Given the description of an element on the screen output the (x, y) to click on. 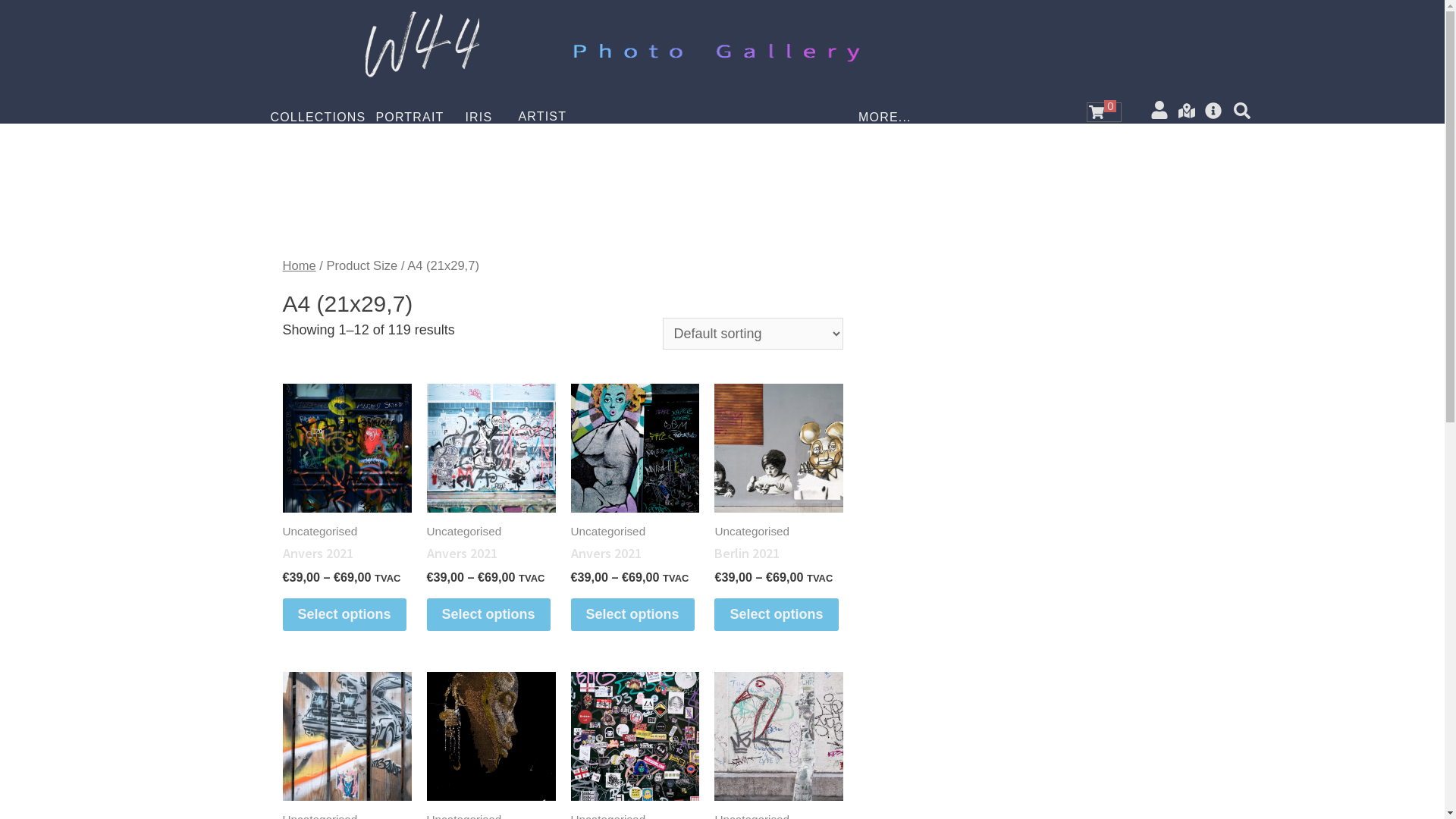
COLLECTIONS Element type: text (317, 117)
MORE... Element type: text (884, 117)
Anvers 2021 Element type: text (490, 552)
Anvers 2021 Element type: text (346, 552)
Select options Element type: text (775, 614)
IRIS Element type: text (478, 117)
Select options Element type: text (488, 614)
Select options Element type: text (631, 614)
Home Element type: text (299, 265)
ARTIST Element type: text (541, 116)
PORTRAIT Element type: text (409, 117)
Anvers 2021 Element type: text (634, 552)
Berlin 2021 Element type: text (778, 552)
Select options Element type: text (344, 614)
0 Element type: text (1103, 111)
